Given the description of an element on the screen output the (x, y) to click on. 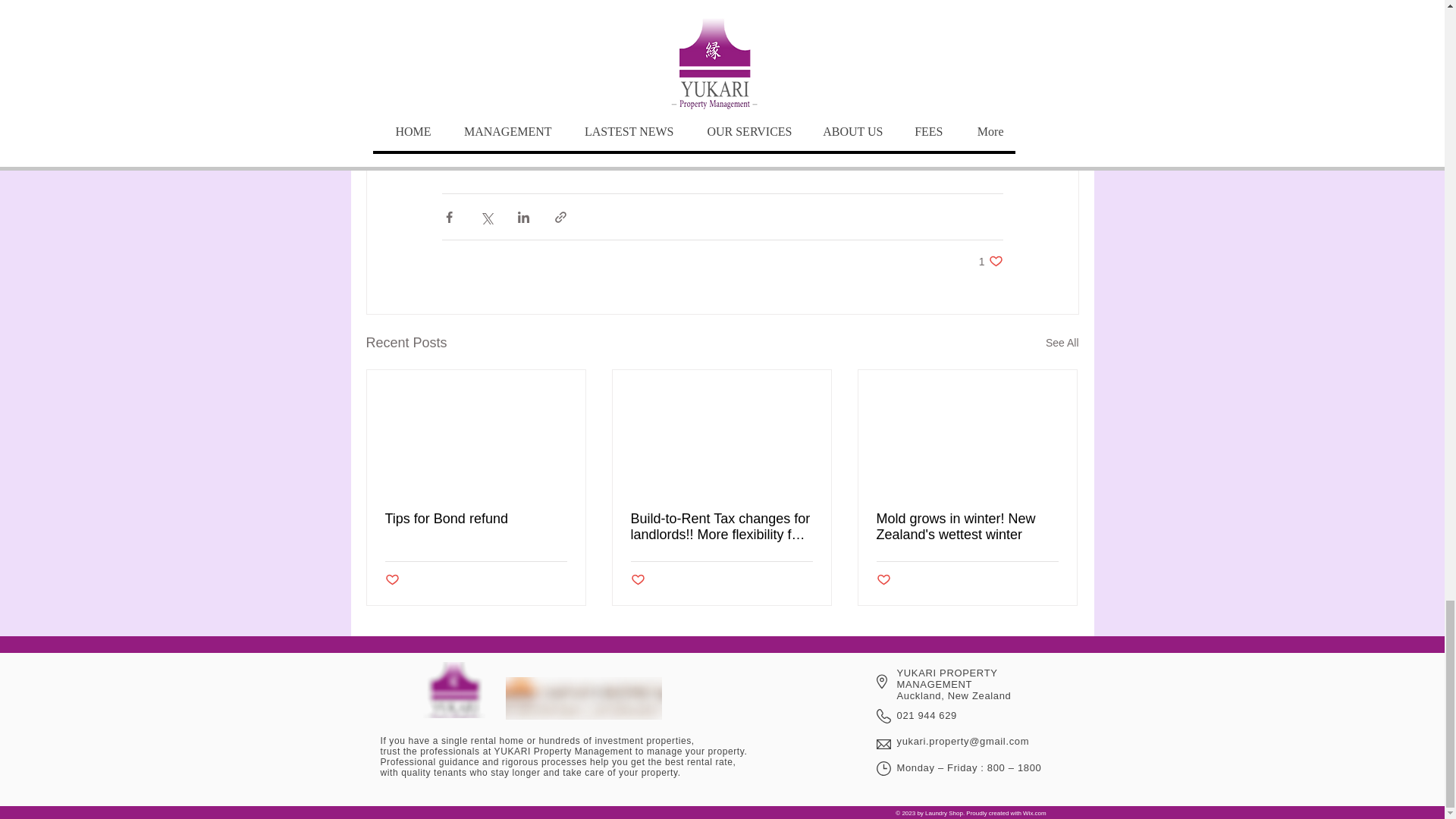
Mold grows in winter! New Zealand's wettest winter (967, 526)
See All (1061, 342)
Post not marked as liked (391, 580)
Tips for Bond refund (476, 519)
Proudly created with Wix.com (990, 260)
Post not marked as liked (1005, 812)
Post not marked as liked (883, 580)
